Given the description of an element on the screen output the (x, y) to click on. 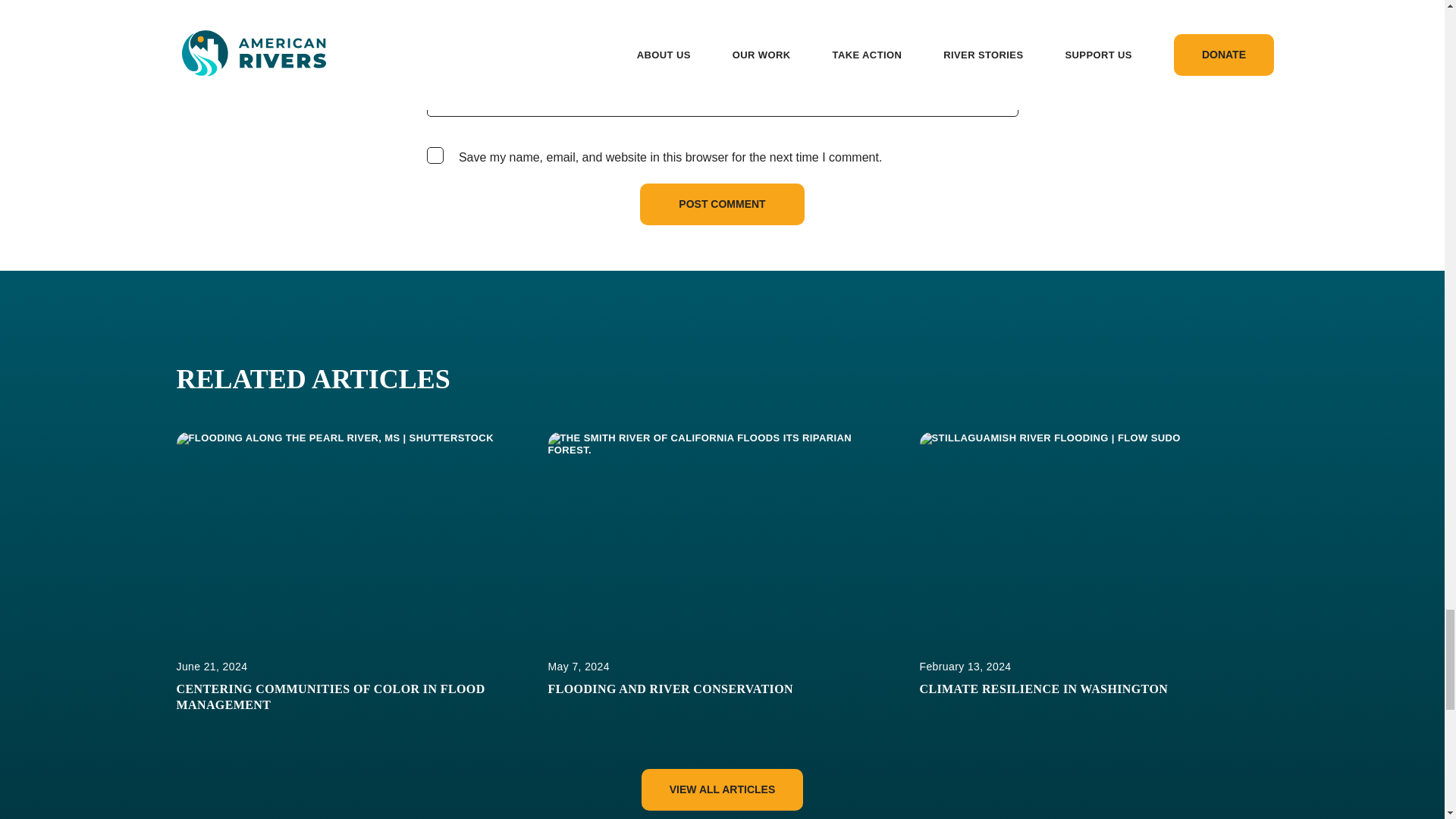
yes (434, 155)
Post Comment (722, 204)
